Given the description of an element on the screen output the (x, y) to click on. 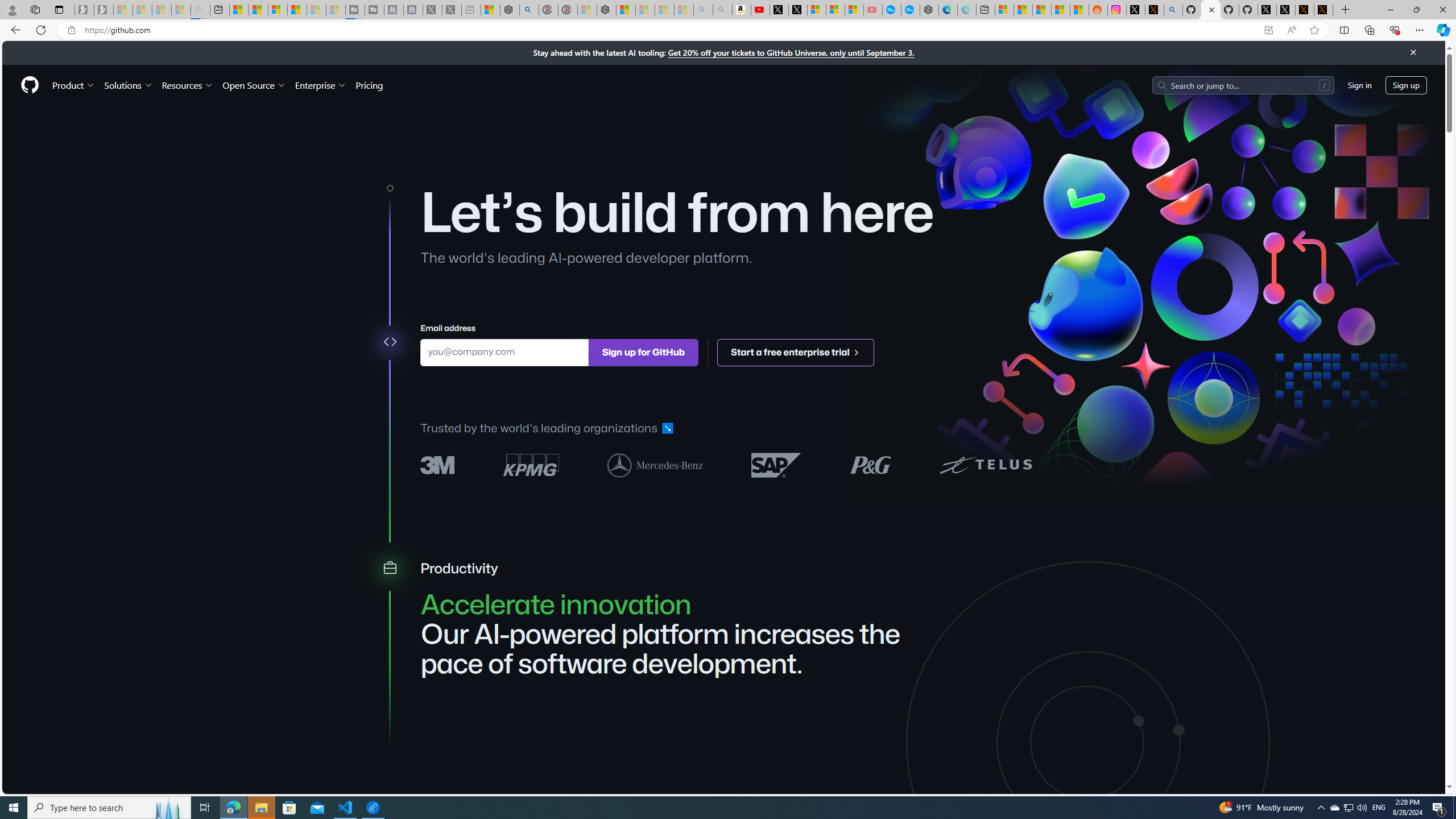
P&G logo (870, 464)
3M logo (437, 465)
Sign up (1406, 84)
Enterprise (319, 84)
Product (74, 84)
Telus logo (985, 464)
